Given the description of an element on the screen output the (x, y) to click on. 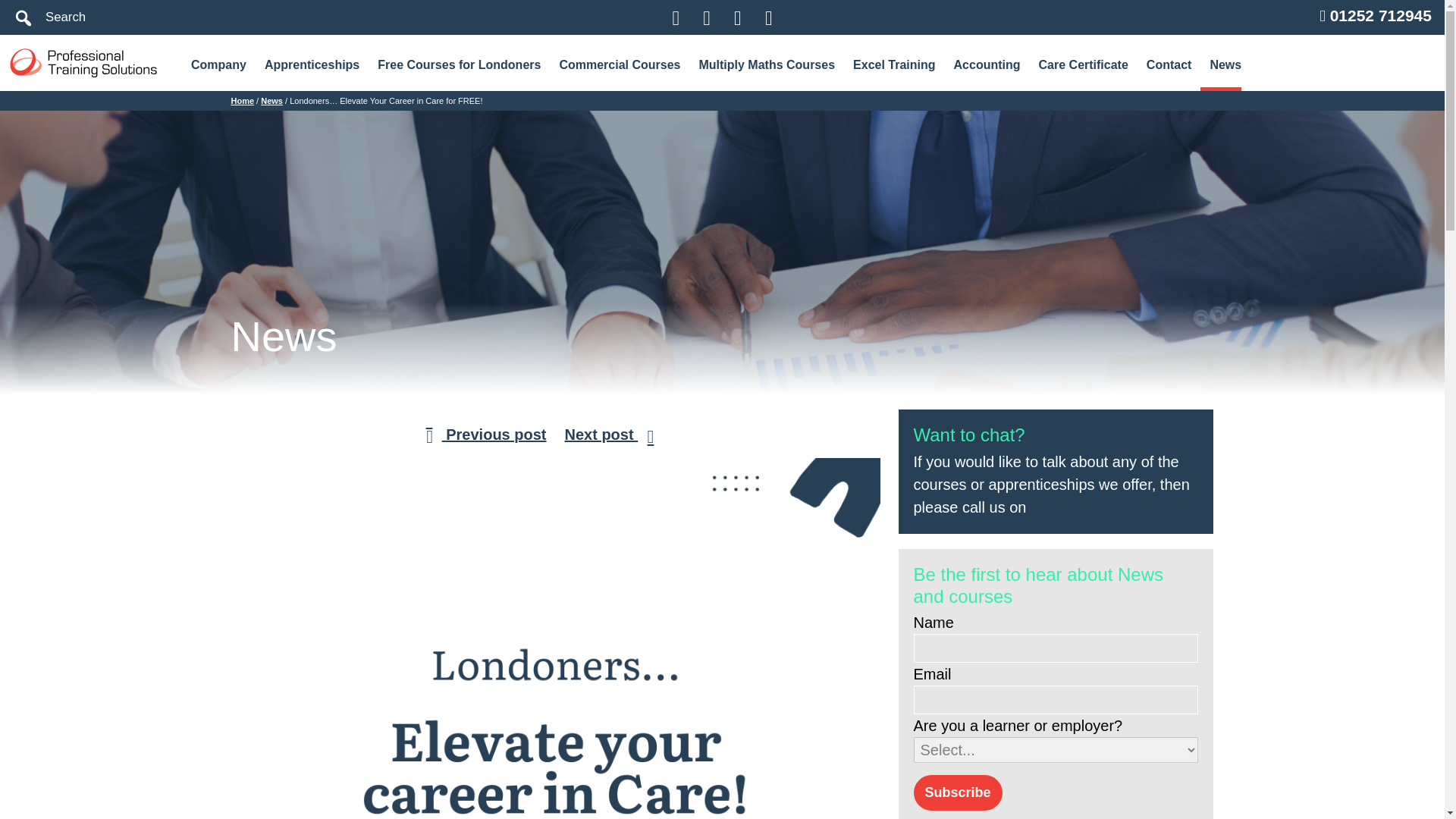
Multiply Maths Courses (766, 64)
Follow us on Twitter (676, 17)
Call Pro Train Solutions (1078, 506)
Commercial Courses (619, 64)
Accounting (986, 64)
Follow us on Facebook (768, 17)
Company (219, 64)
01252 712945 (1380, 15)
Follow us on Instagram (737, 17)
Excel Training (893, 64)
News (1220, 64)
Free Courses for Londoners (459, 64)
Contact (1169, 64)
Apprenticeships (312, 64)
Care Certificate (1083, 64)
